Given the description of an element on the screen output the (x, y) to click on. 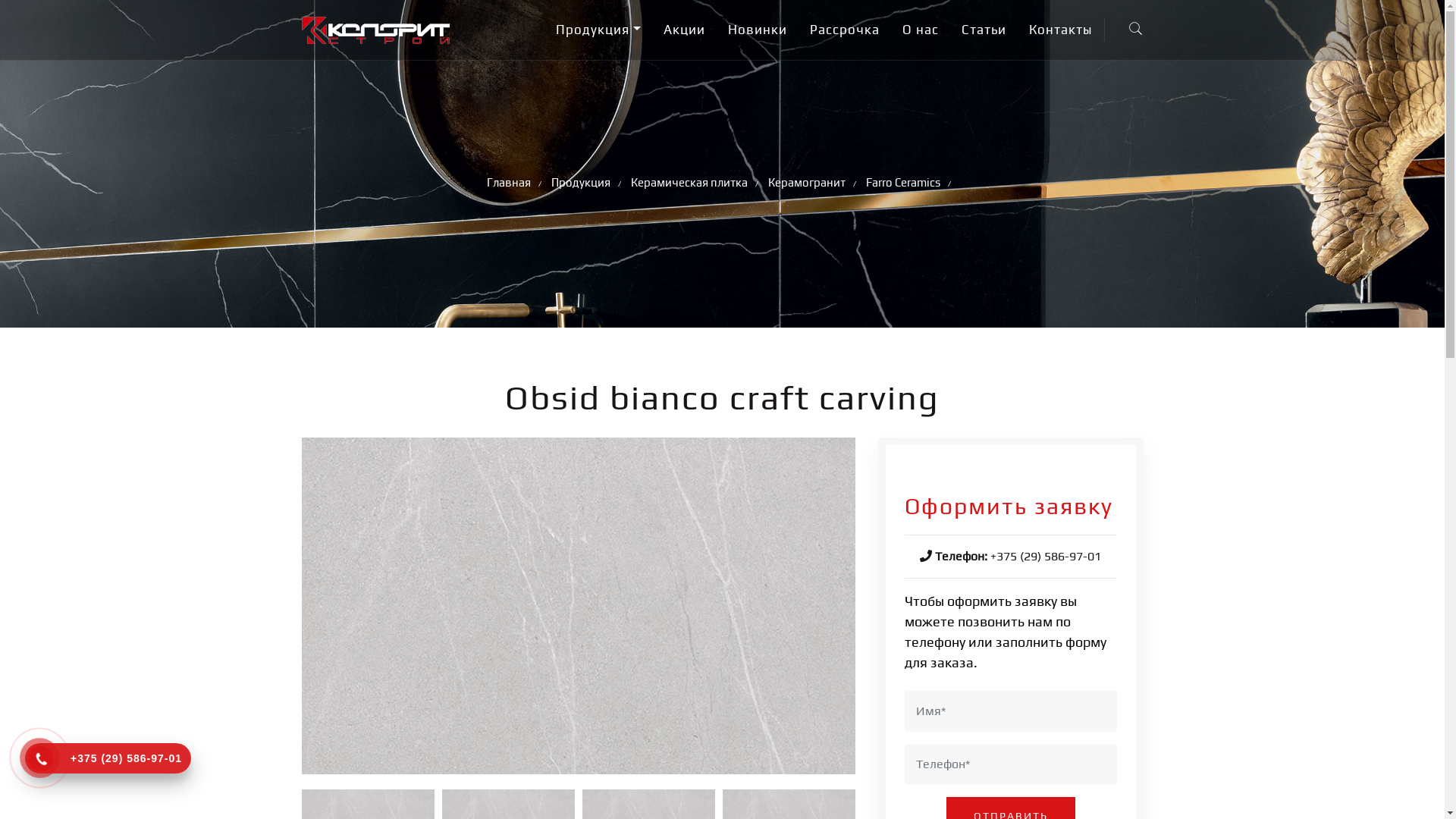
+375 (29) 586-97-01 Element type: text (1045, 556)
Obsid bianco craft carving Element type: hover (578, 610)
Farro Ceramics Element type: text (903, 182)
